Given the description of an element on the screen output the (x, y) to click on. 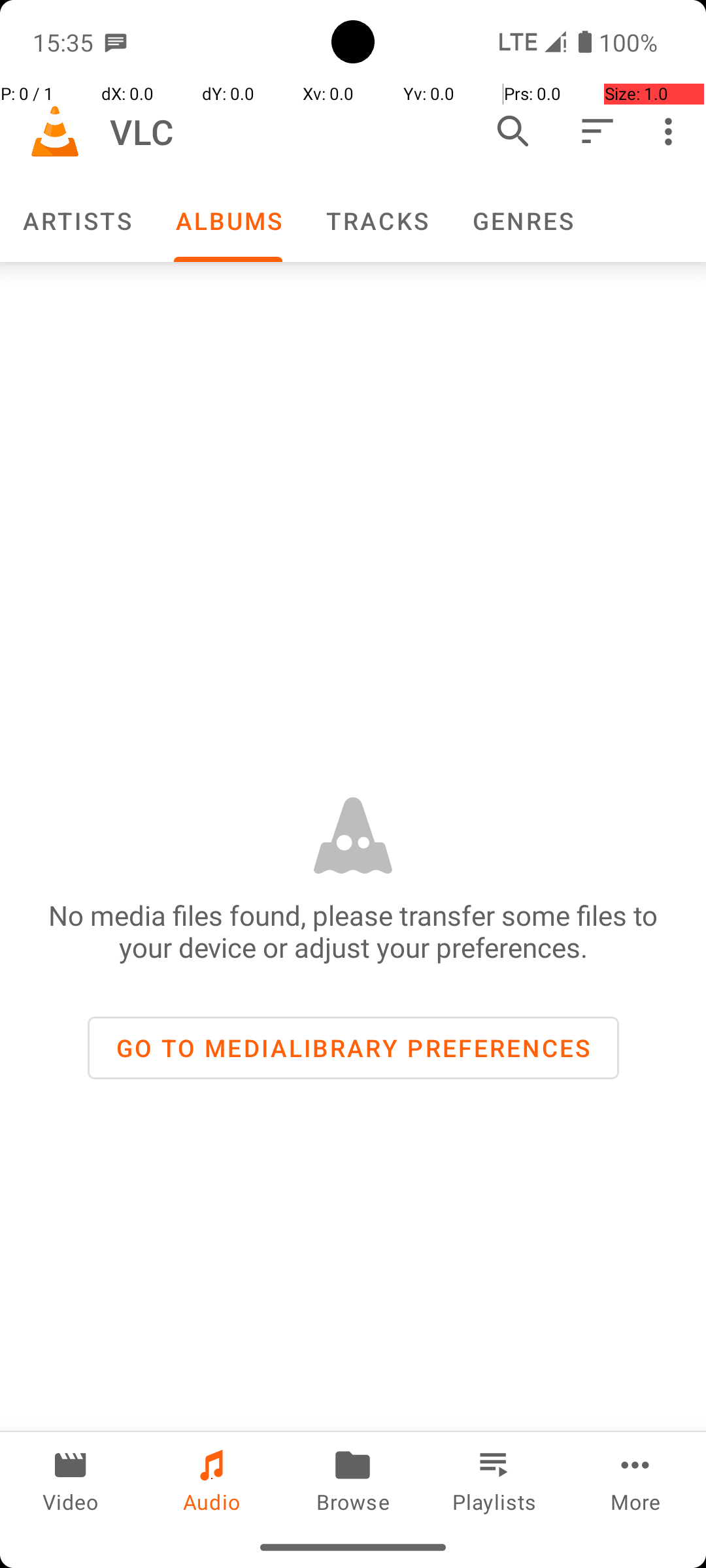
GO TO MEDIALIBRARY PREFERENCES Element type: android.widget.Button (353, 1047)
